Given the description of an element on the screen output the (x, y) to click on. 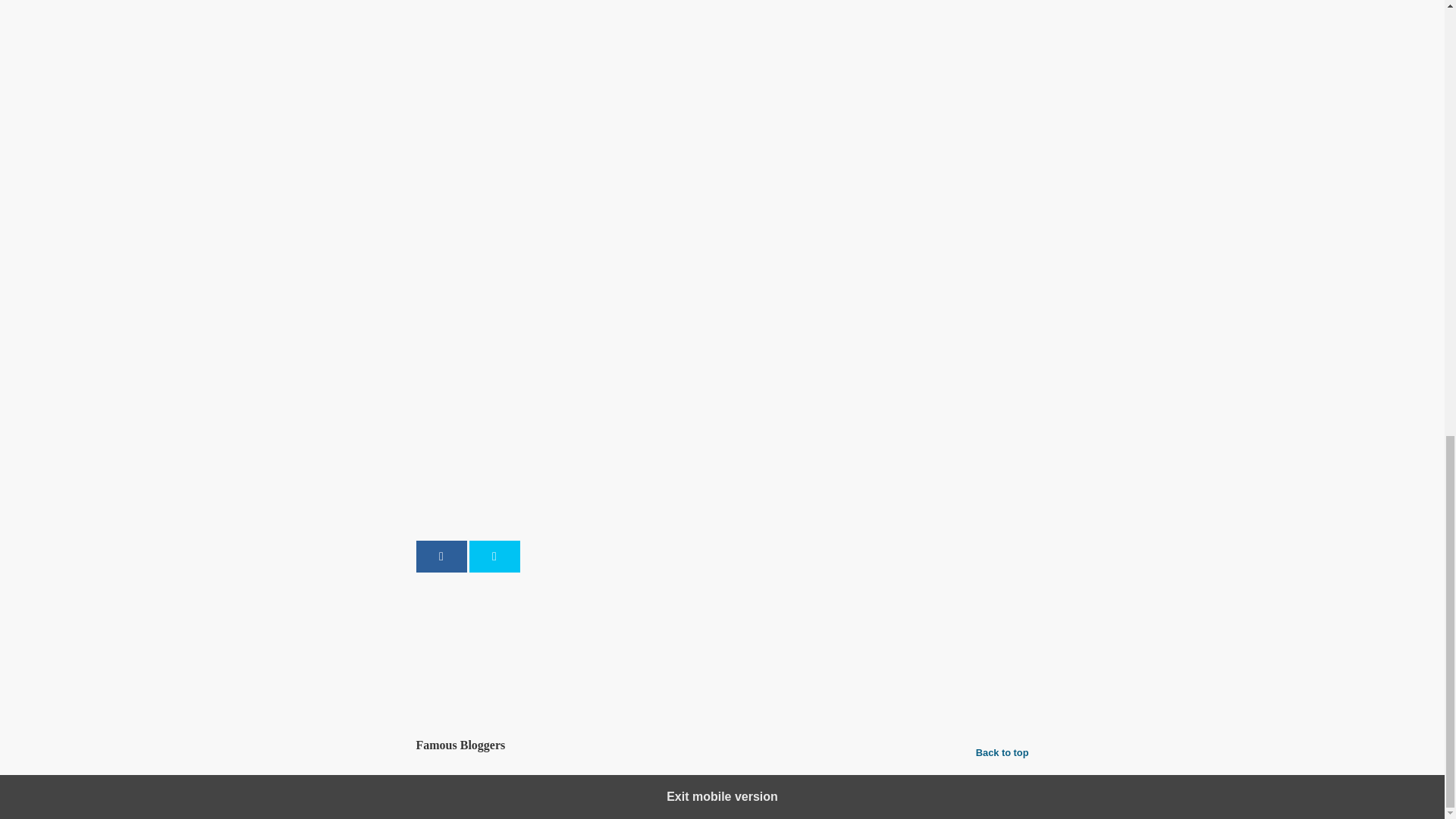
reviews (779, 637)
Tweet (493, 556)
Back to top (1002, 752)
article submission (486, 637)
SEO (484, 605)
miracle traffic bot (715, 637)
Share (439, 556)
bookmarking sites (626, 637)
View Comments (721, 686)
backlinks (556, 637)
